Given the description of an element on the screen output the (x, y) to click on. 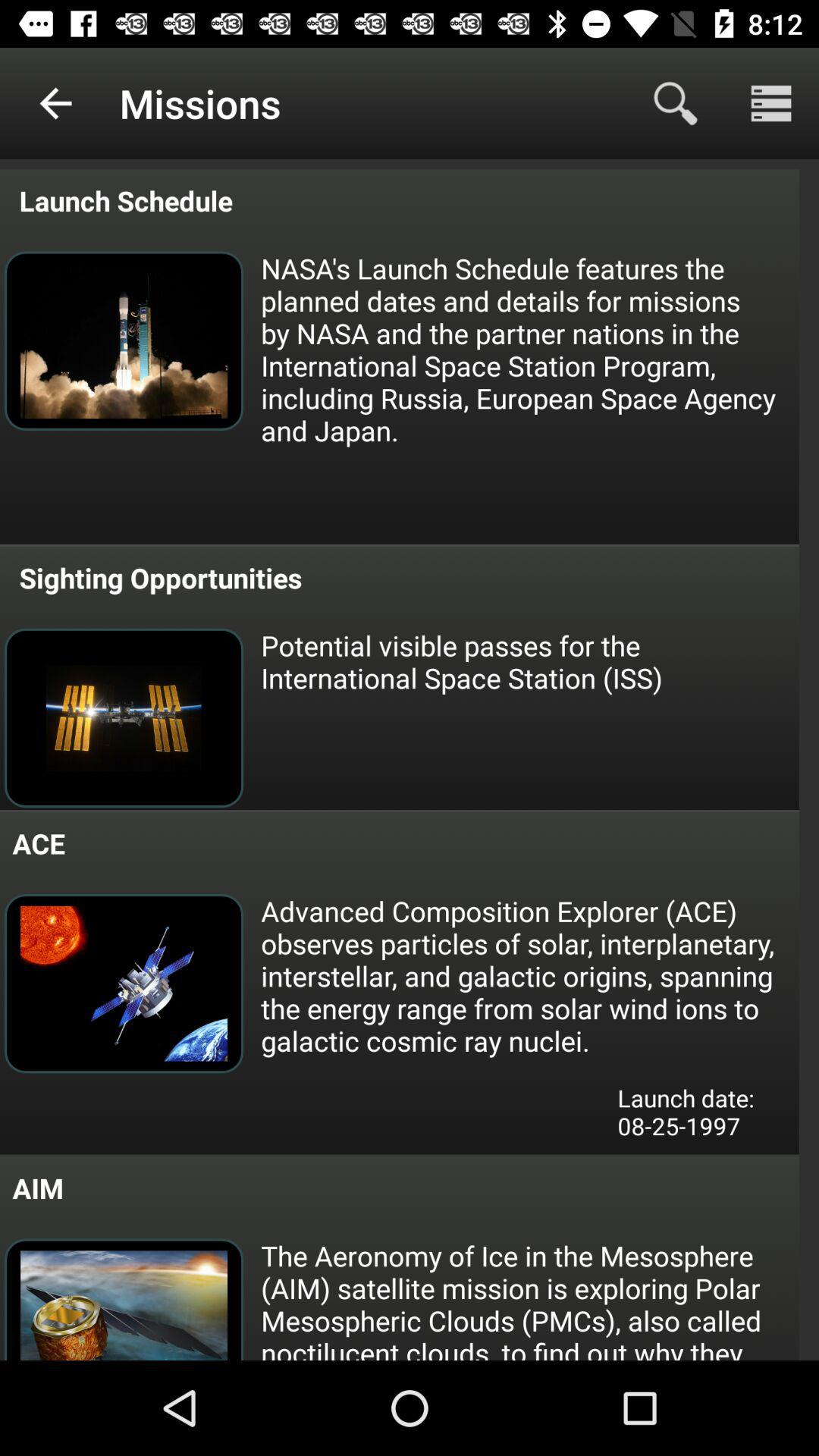
turn off app to the left of the missions (55, 103)
